Given the description of an element on the screen output the (x, y) to click on. 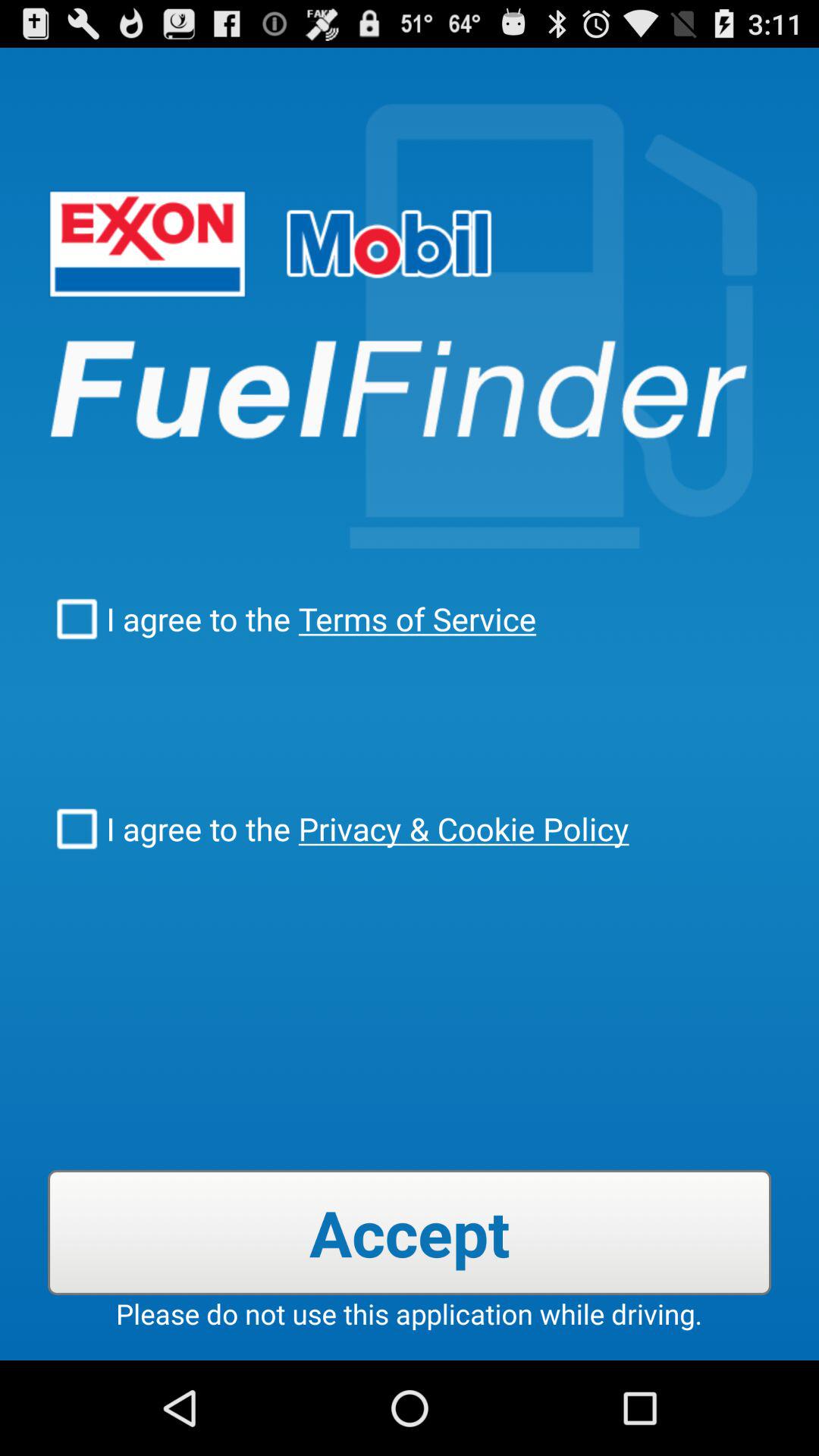
turn on the icon next to the i agree to checkbox (413, 618)
